Given the description of an element on the screen output the (x, y) to click on. 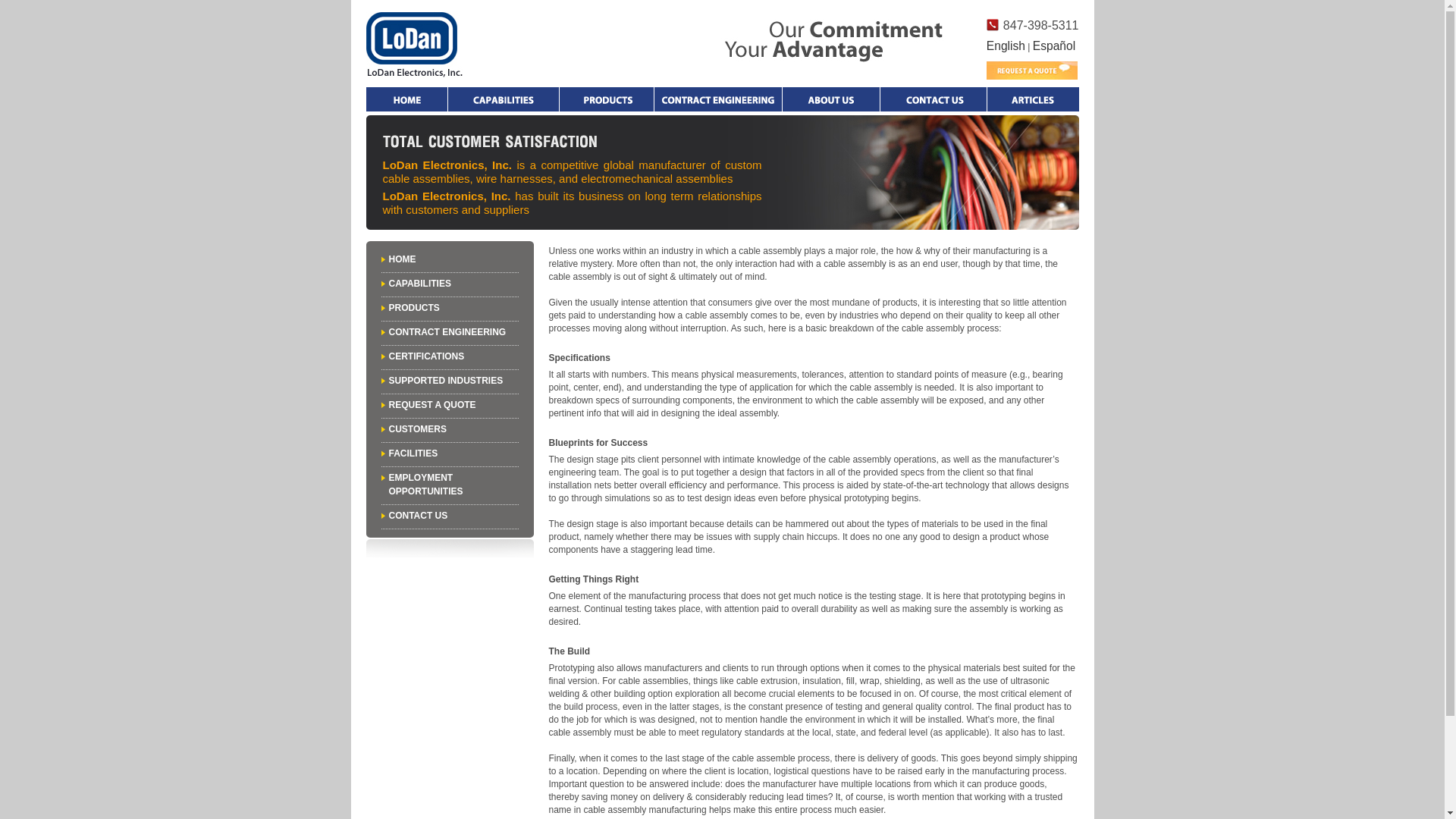
SUPPORTED INDUSTRIES (445, 380)
CUSTOMERS (416, 429)
Contract Engineering (716, 98)
CONTRACT ENGINEERING (446, 331)
CERTIFICATIONS (426, 356)
Home (405, 98)
Contact (932, 98)
PRODUCTS (413, 307)
EMPLOYMENT OPPORTUNITIES (425, 484)
Capabilities (501, 98)
HOME (401, 258)
English (1006, 45)
CONTACT US (417, 515)
CAPABILITIES (418, 283)
About Us (831, 98)
